Given the description of an element on the screen output the (x, y) to click on. 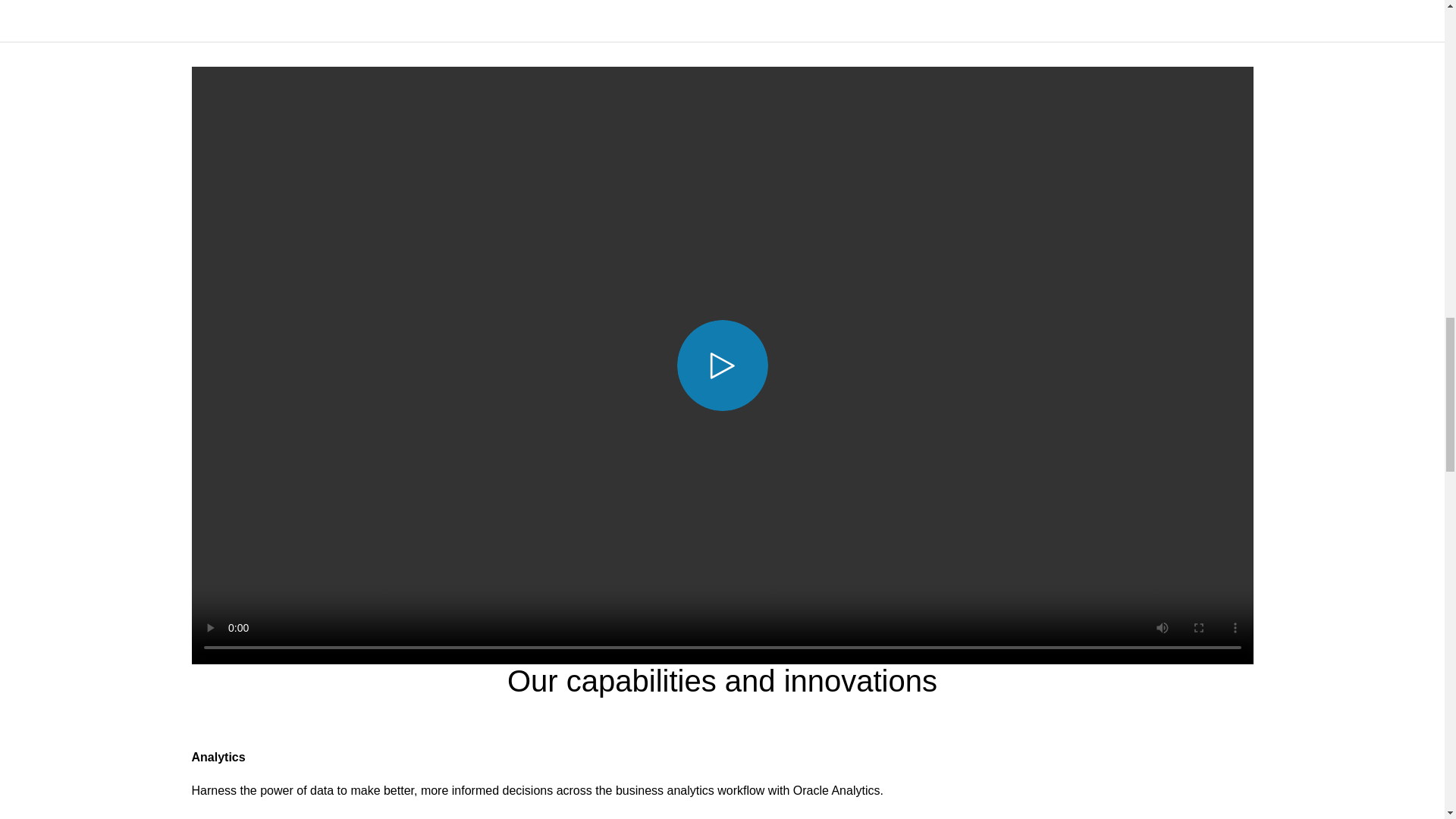
Play Video (722, 365)
